Given the description of an element on the screen output the (x, y) to click on. 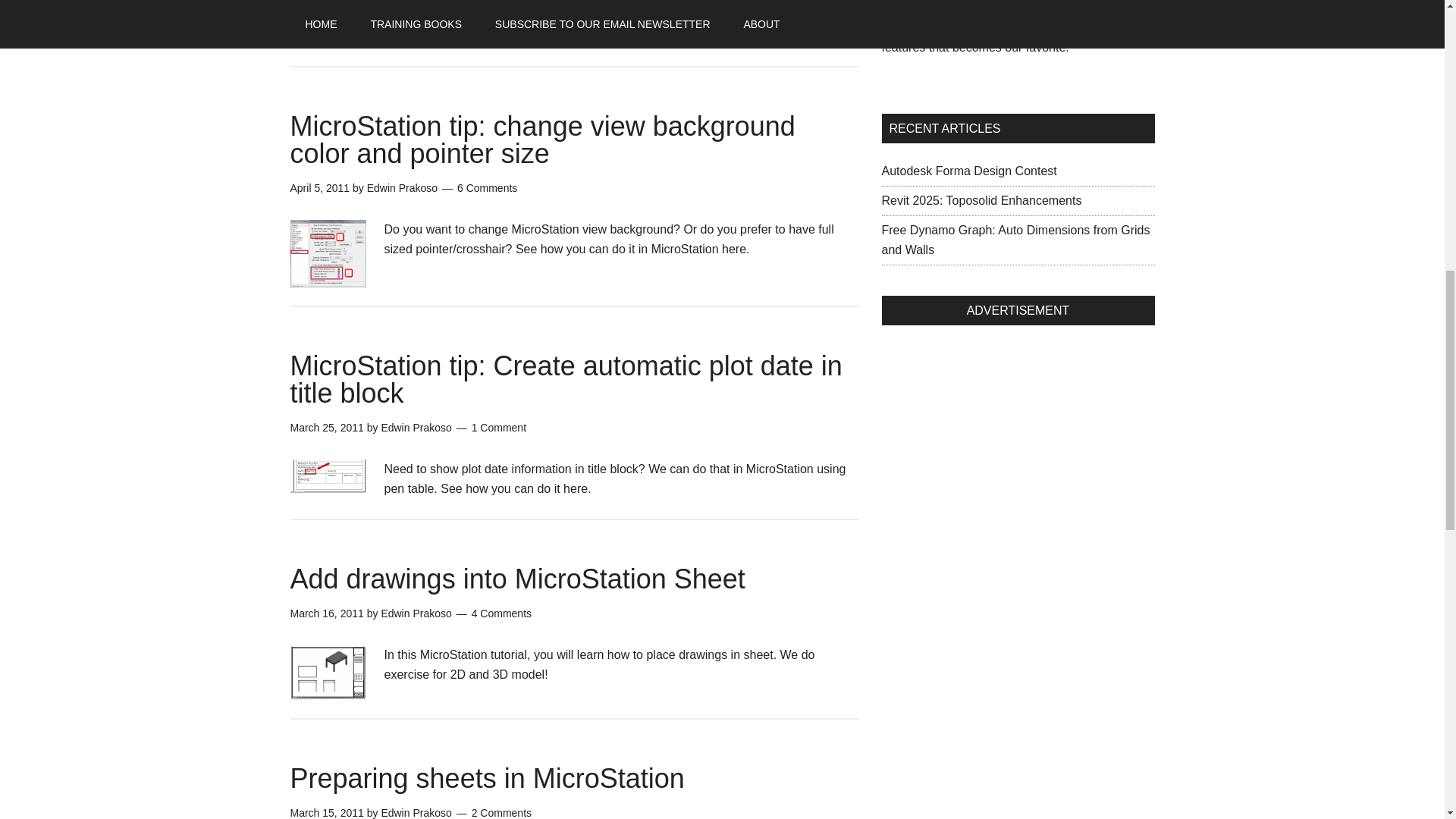
6 Comments (486, 187)
1 Comment (498, 427)
Edwin Prakoso (415, 427)
Edwin Prakoso (402, 187)
MicroStation tip: Create automatic plot date in title block (565, 379)
